Given the description of an element on the screen output the (x, y) to click on. 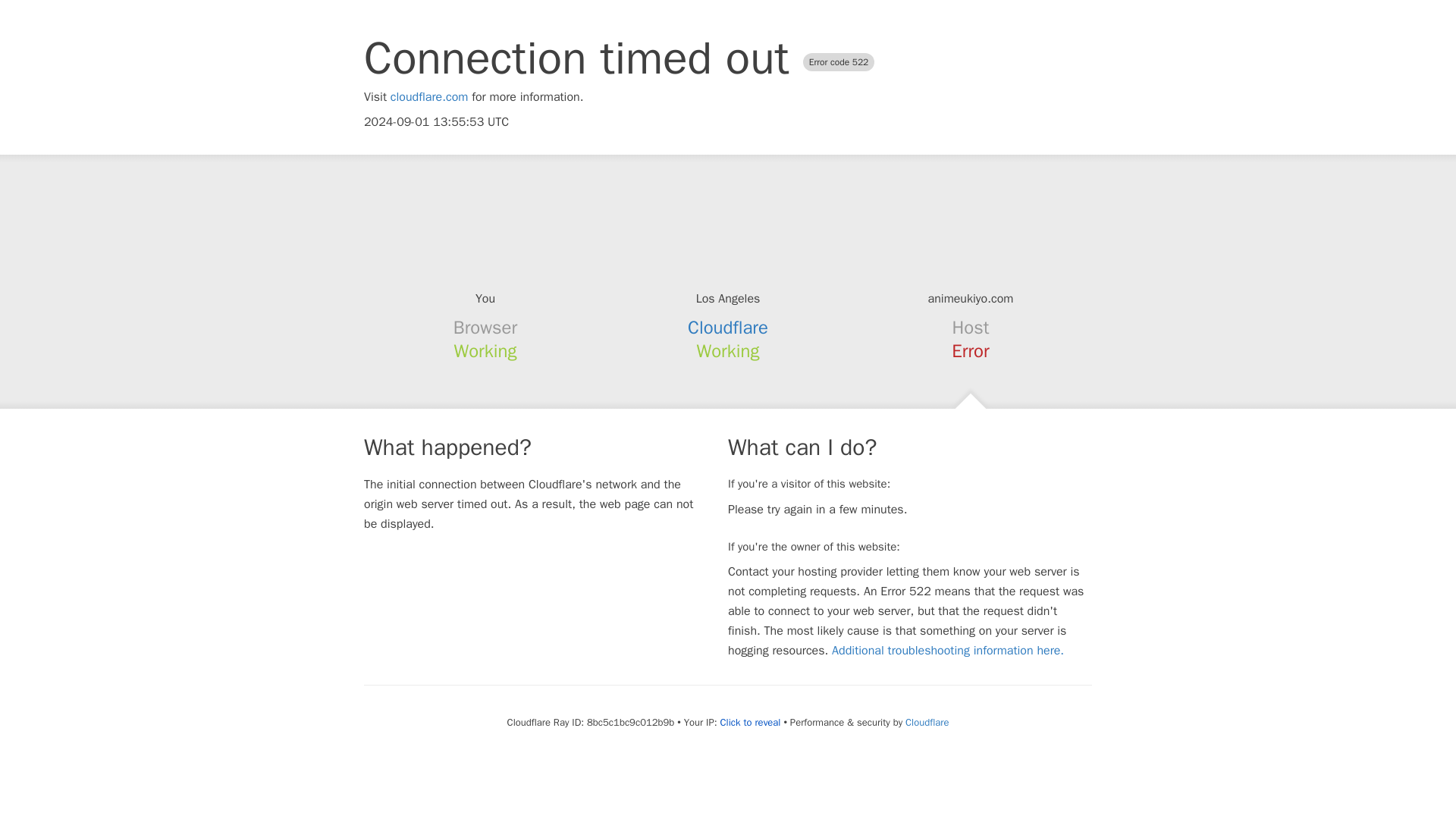
Click to reveal (750, 722)
Additional troubleshooting information here. (947, 650)
cloudflare.com (429, 96)
Cloudflare (927, 721)
Cloudflare (727, 327)
